Given the description of an element on the screen output the (x, y) to click on. 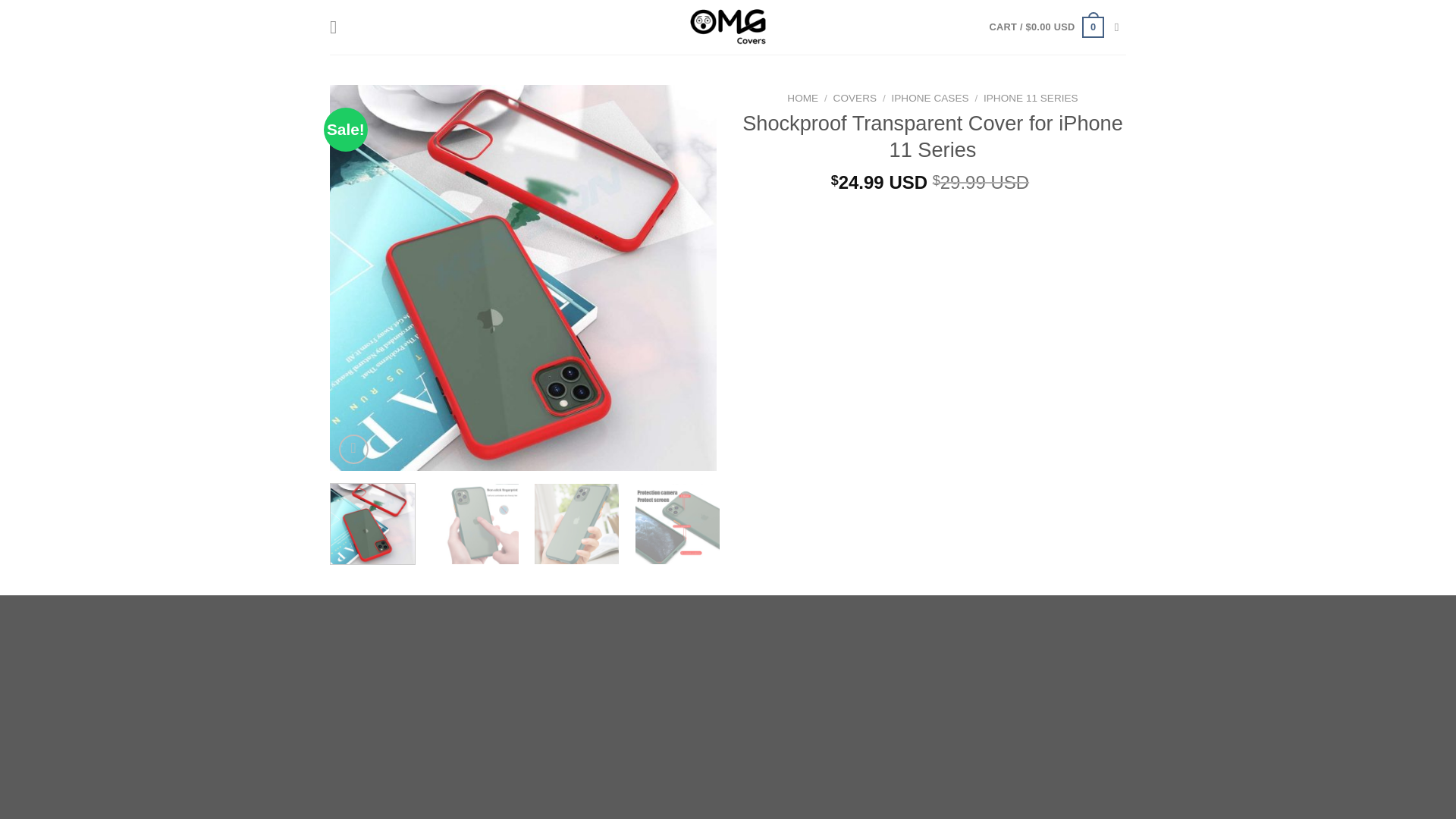
Zoom (353, 449)
OMGCovers - Make Your Custom iPhone Case (727, 27)
Cart (1046, 26)
HOME (802, 98)
IPHONE 11 SERIES (1031, 98)
IPHONE CASES (930, 98)
COVERS (854, 98)
